Given the description of an element on the screen output the (x, y) to click on. 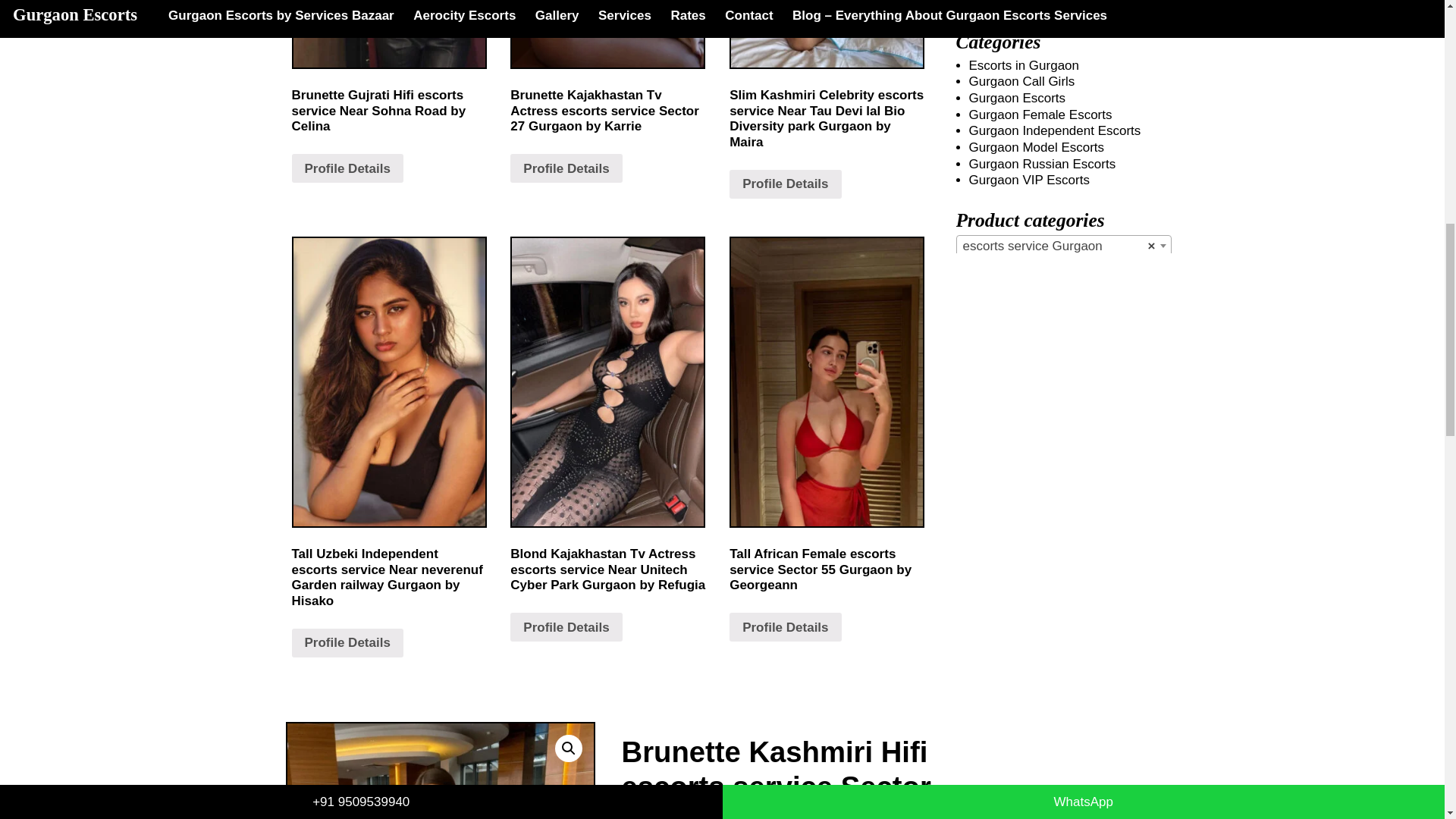
Profile Details (785, 184)
frances (440, 770)
Profile Details (566, 167)
Profile Details (785, 626)
escorts service Gurgaon (1063, 246)
Profile Details (566, 626)
Profile Details (347, 167)
Profile Details (347, 642)
